Given the description of an element on the screen output the (x, y) to click on. 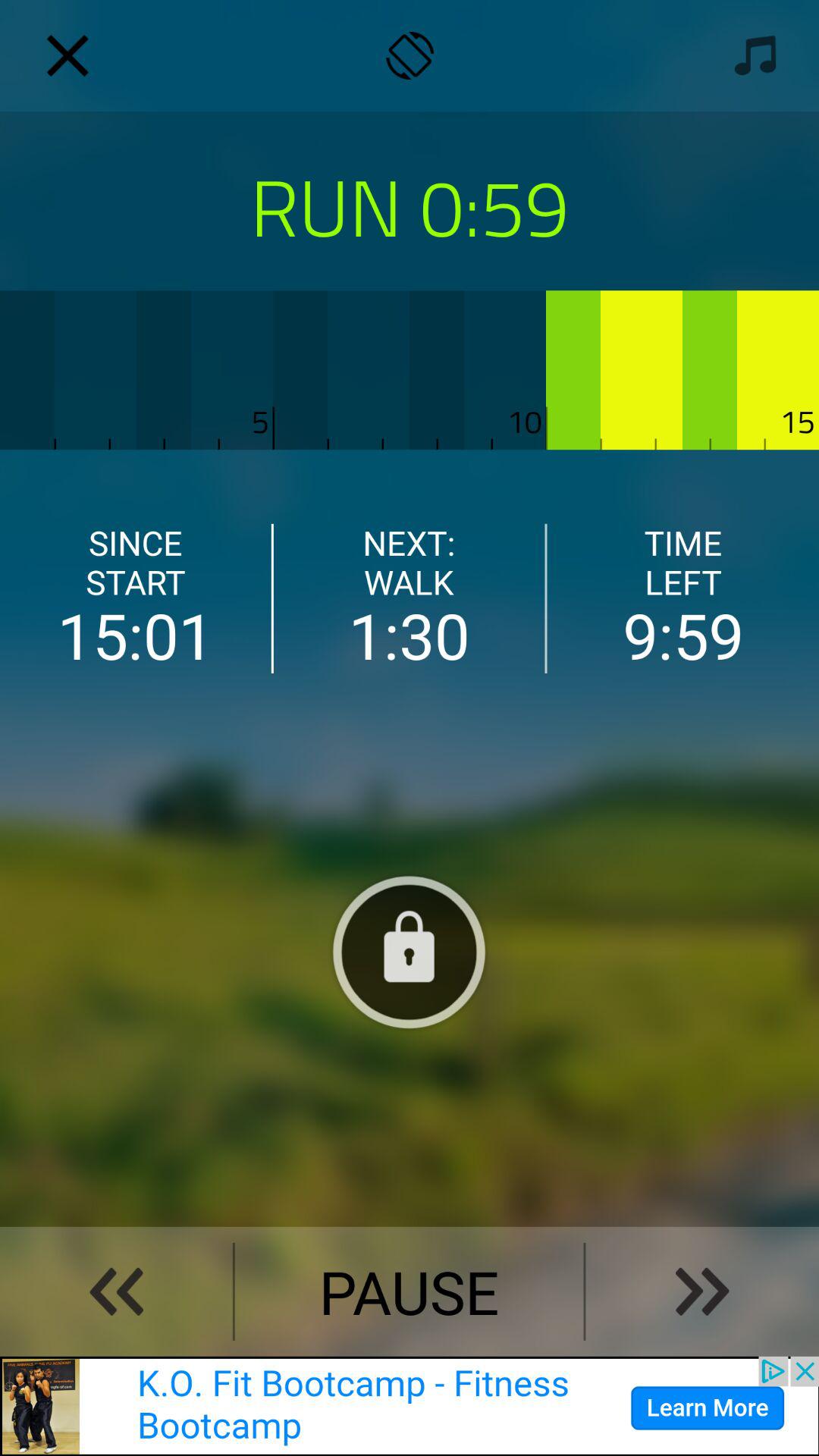
close (67, 55)
